Given the description of an element on the screen output the (x, y) to click on. 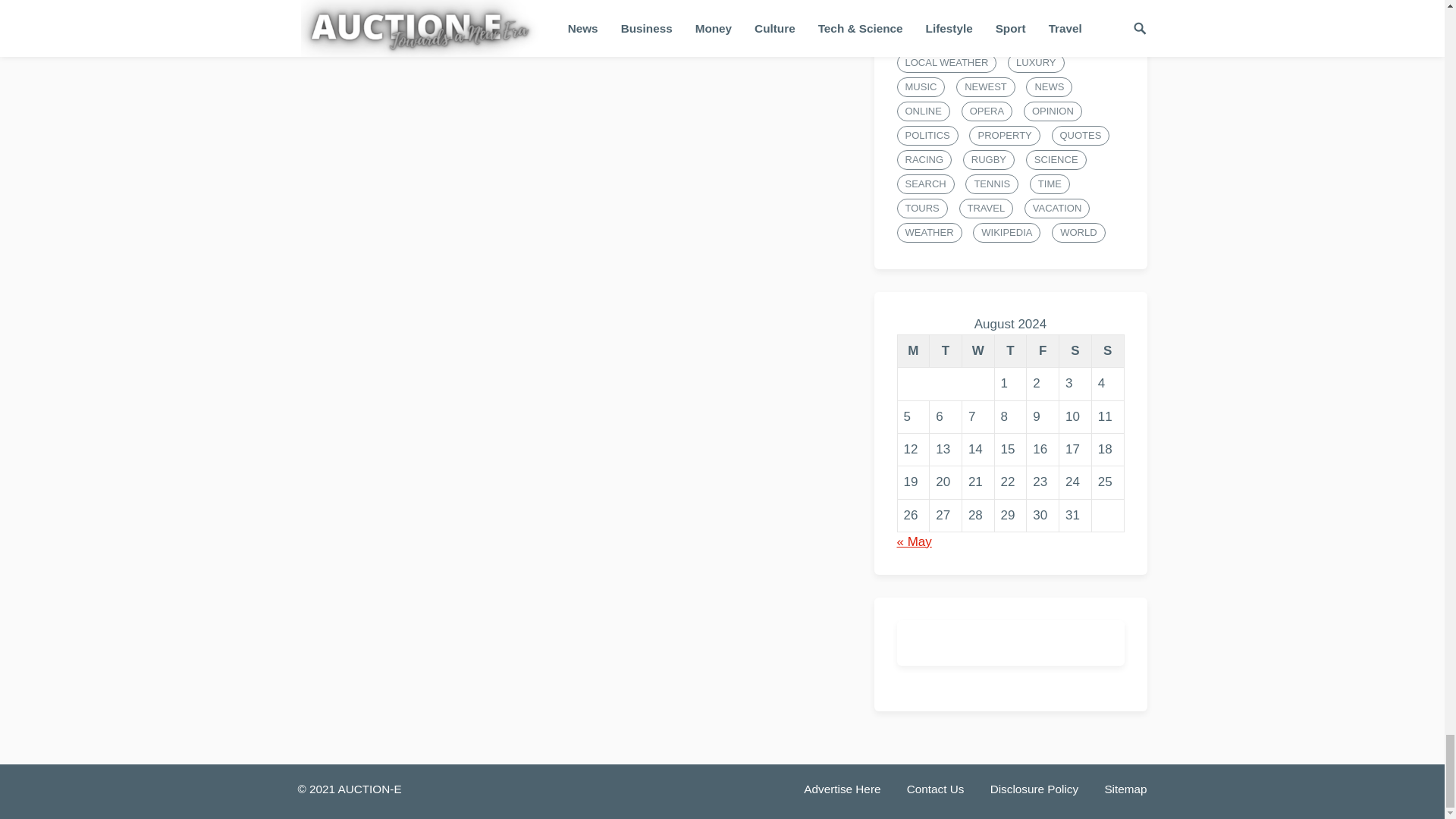
Friday (1042, 350)
Monday (913, 350)
Saturday (1075, 350)
Wednesday (977, 350)
Sunday (1107, 350)
Thursday (1010, 350)
Tuesday (946, 350)
